Given the description of an element on the screen output the (x, y) to click on. 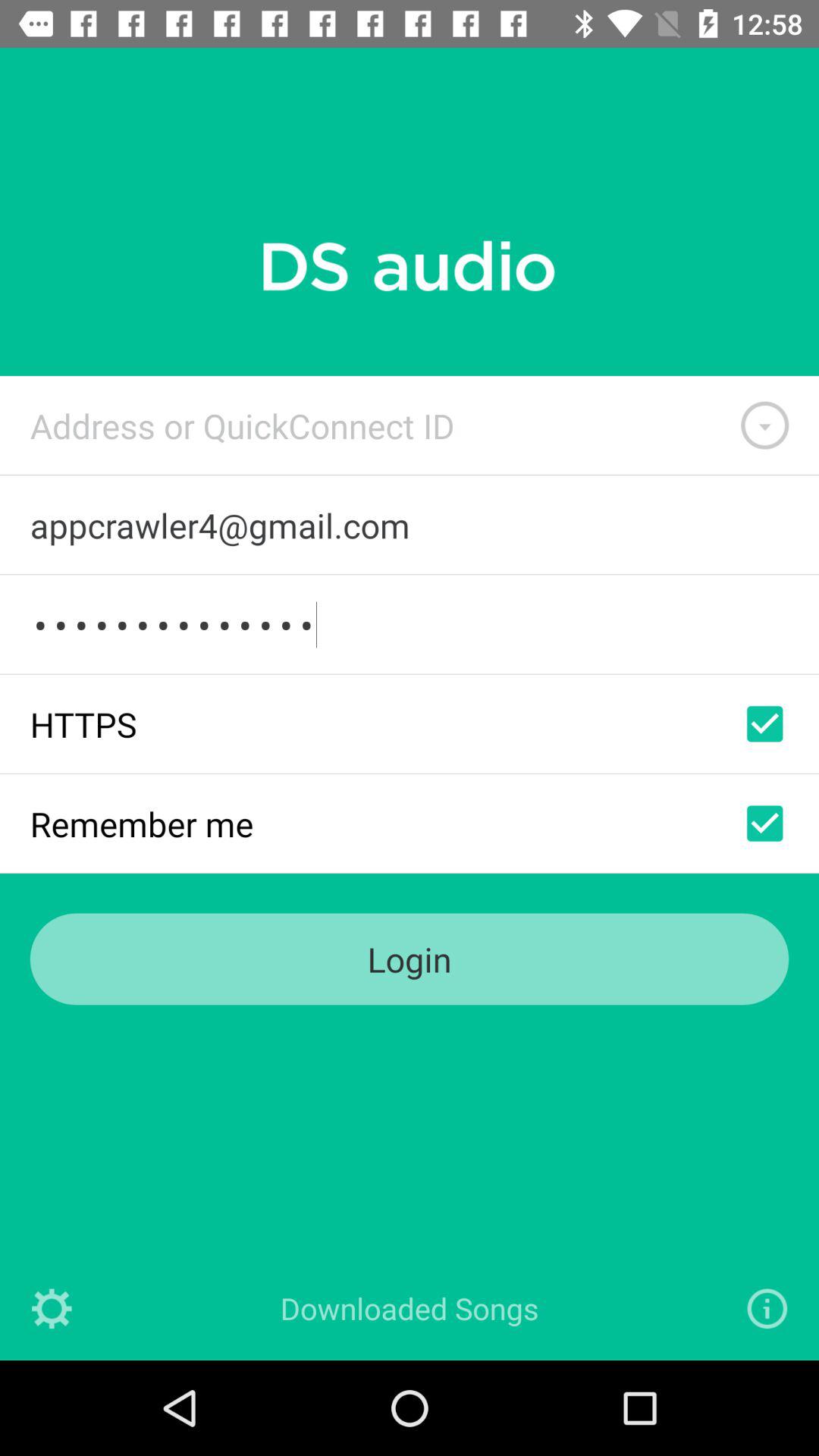
remember update (764, 823)
